Given the description of an element on the screen output the (x, y) to click on. 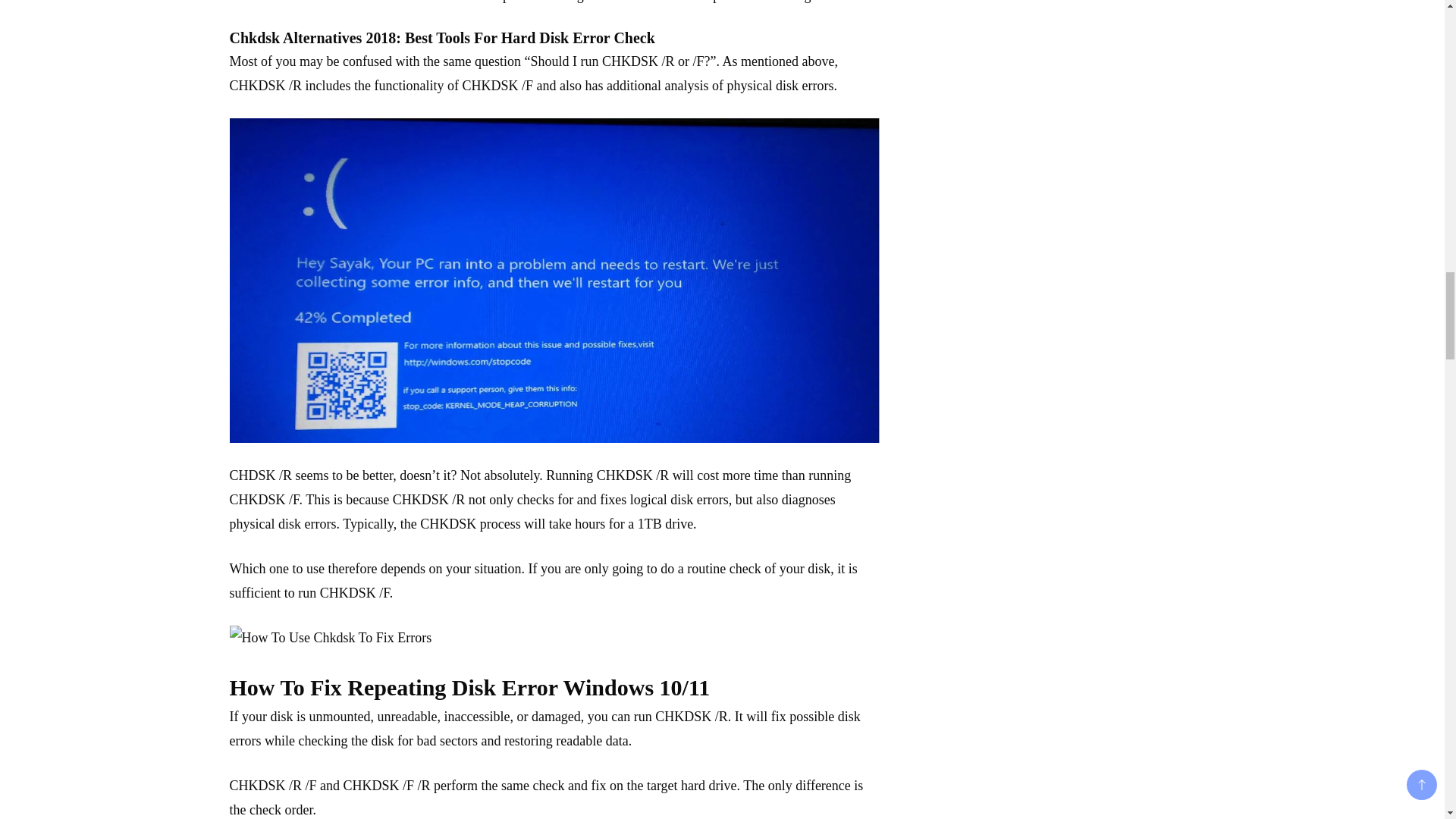
How To Use Chkdsk To Fix Errors (329, 637)
